Given the description of an element on the screen output the (x, y) to click on. 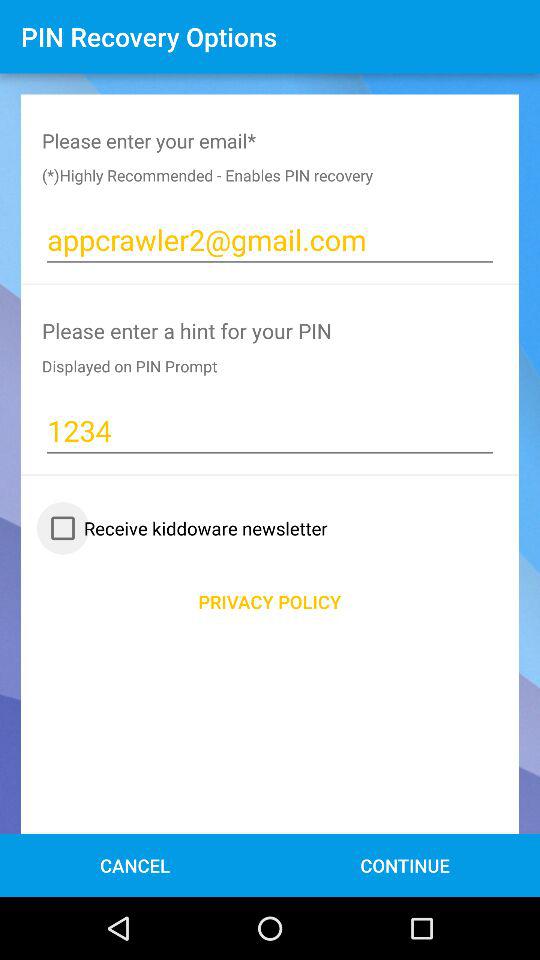
open the icon below highly recommended enables icon (269, 240)
